Given the description of an element on the screen output the (x, y) to click on. 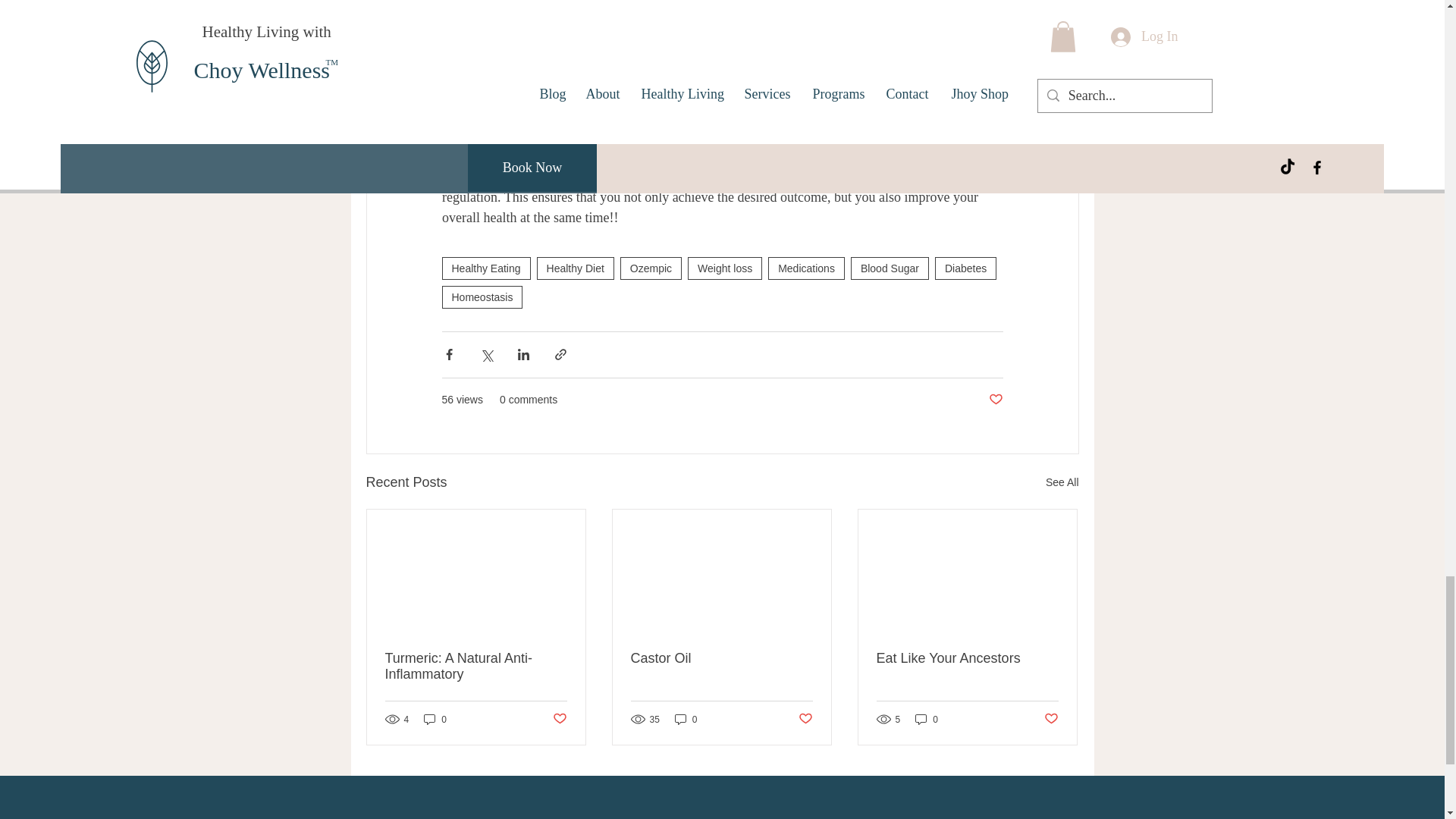
Post not marked as liked (995, 399)
Healthy Diet (575, 268)
Homeostasis (481, 296)
Medications (806, 268)
Diabetes (964, 268)
Ozempic (650, 268)
Healthy Eating (485, 268)
Blood Sugar (889, 268)
See All (1061, 482)
Weight loss (724, 268)
